Given the description of an element on the screen output the (x, y) to click on. 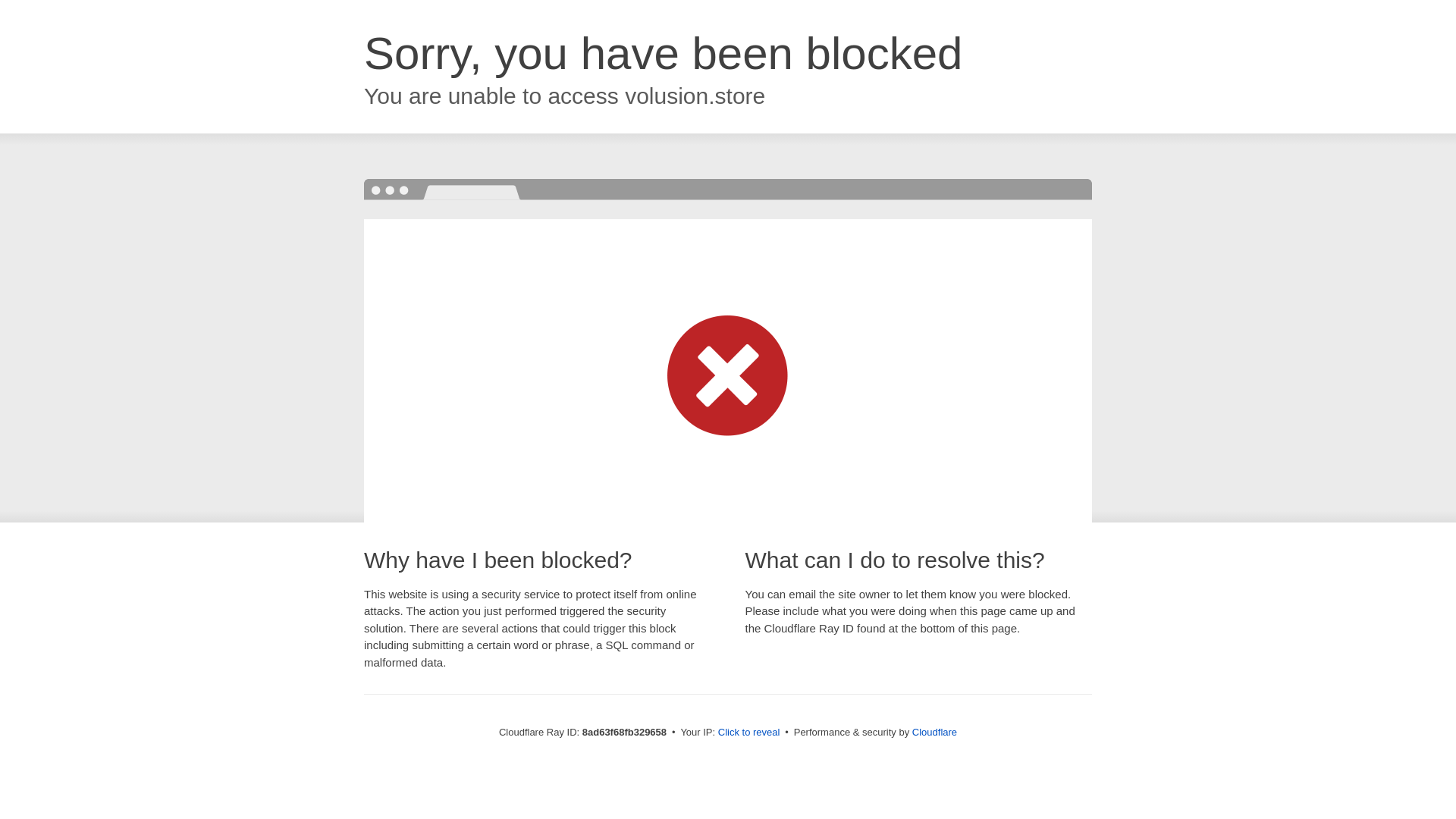
Cloudflare (934, 731)
Click to reveal (748, 732)
